Given the description of an element on the screen output the (x, y) to click on. 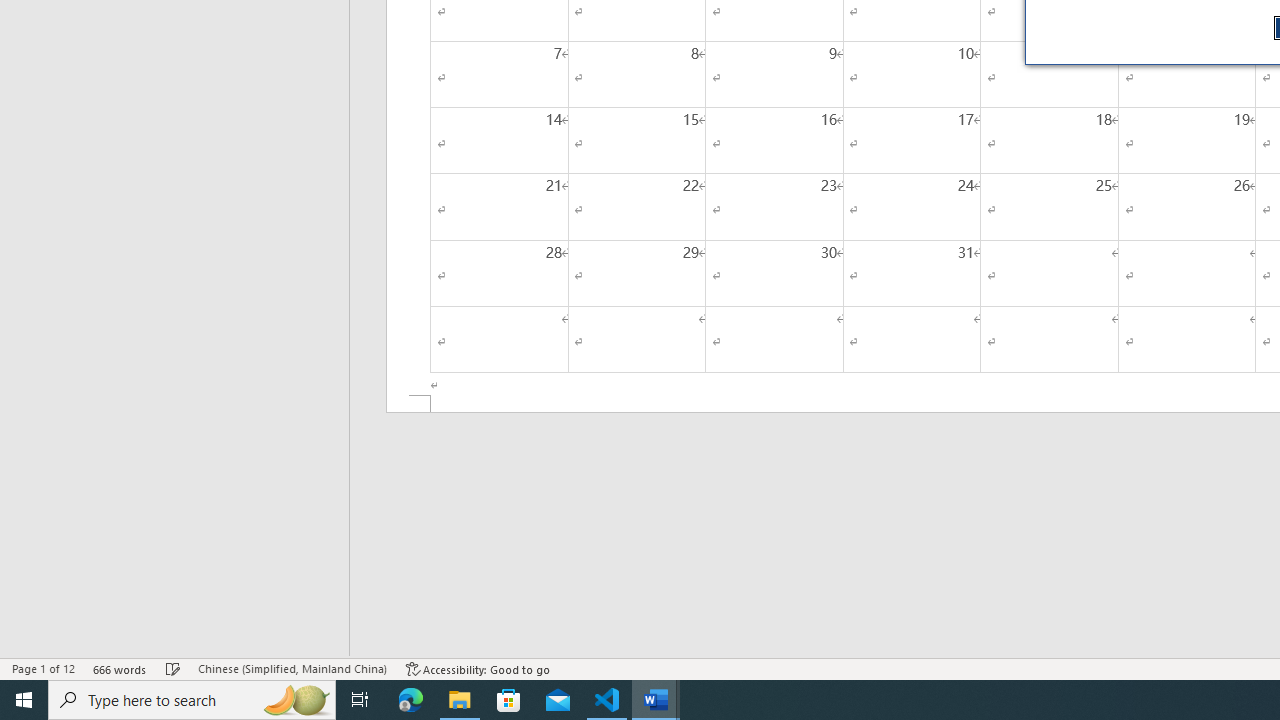
Search highlights icon opens search home window (295, 699)
